Given the description of an element on the screen output the (x, y) to click on. 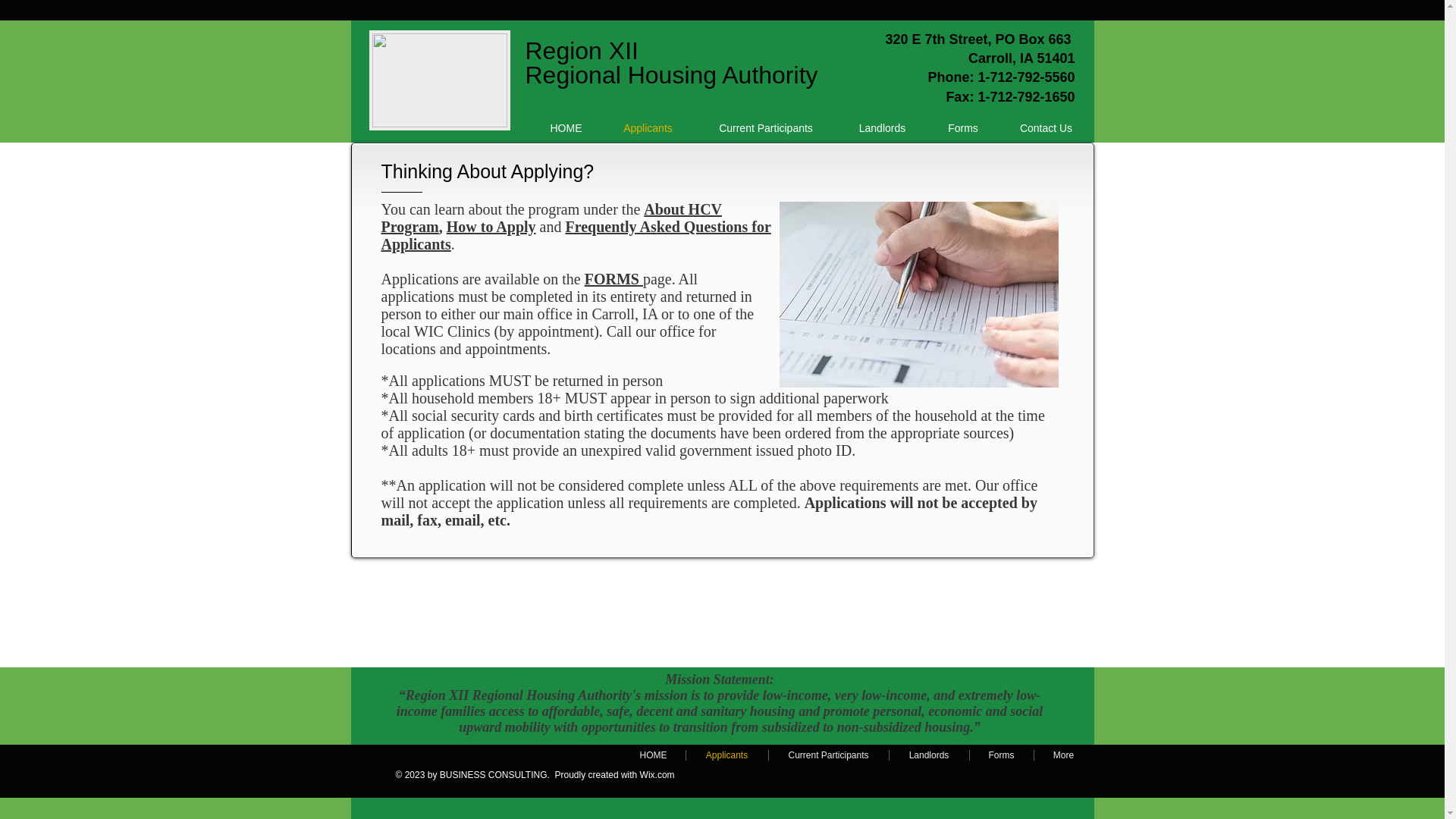
Contact Us (1045, 127)
Applicants (646, 127)
Wix.com (657, 774)
Current Participants (828, 755)
School Application (918, 294)
Forms (1000, 755)
Landlords (928, 755)
Applicants (726, 755)
FORMS (614, 279)
Frequently Asked Questions for Applicants (575, 235)
